Given the description of an element on the screen output the (x, y) to click on. 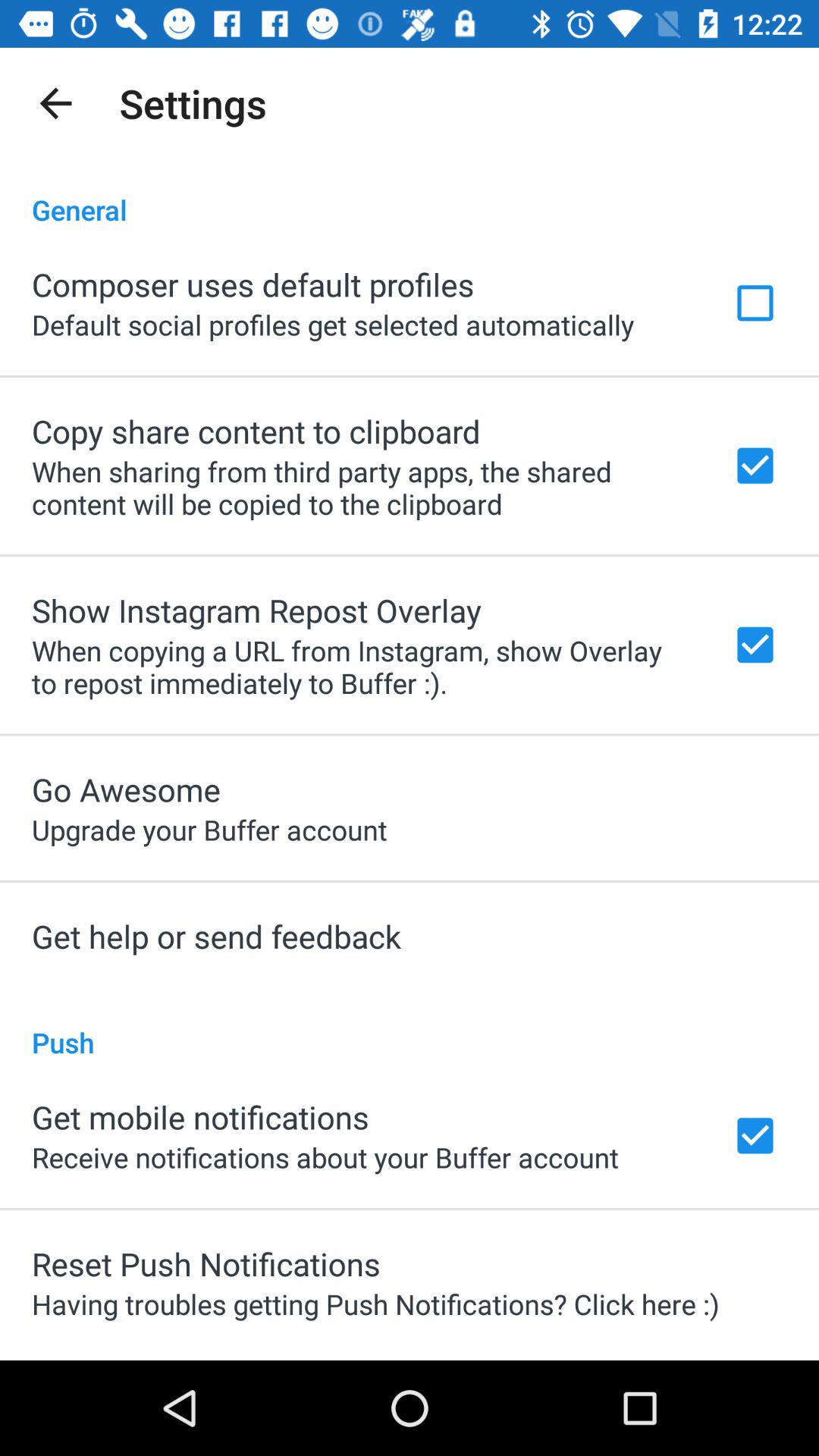
press when copying a icon (361, 666)
